Given the description of an element on the screen output the (x, y) to click on. 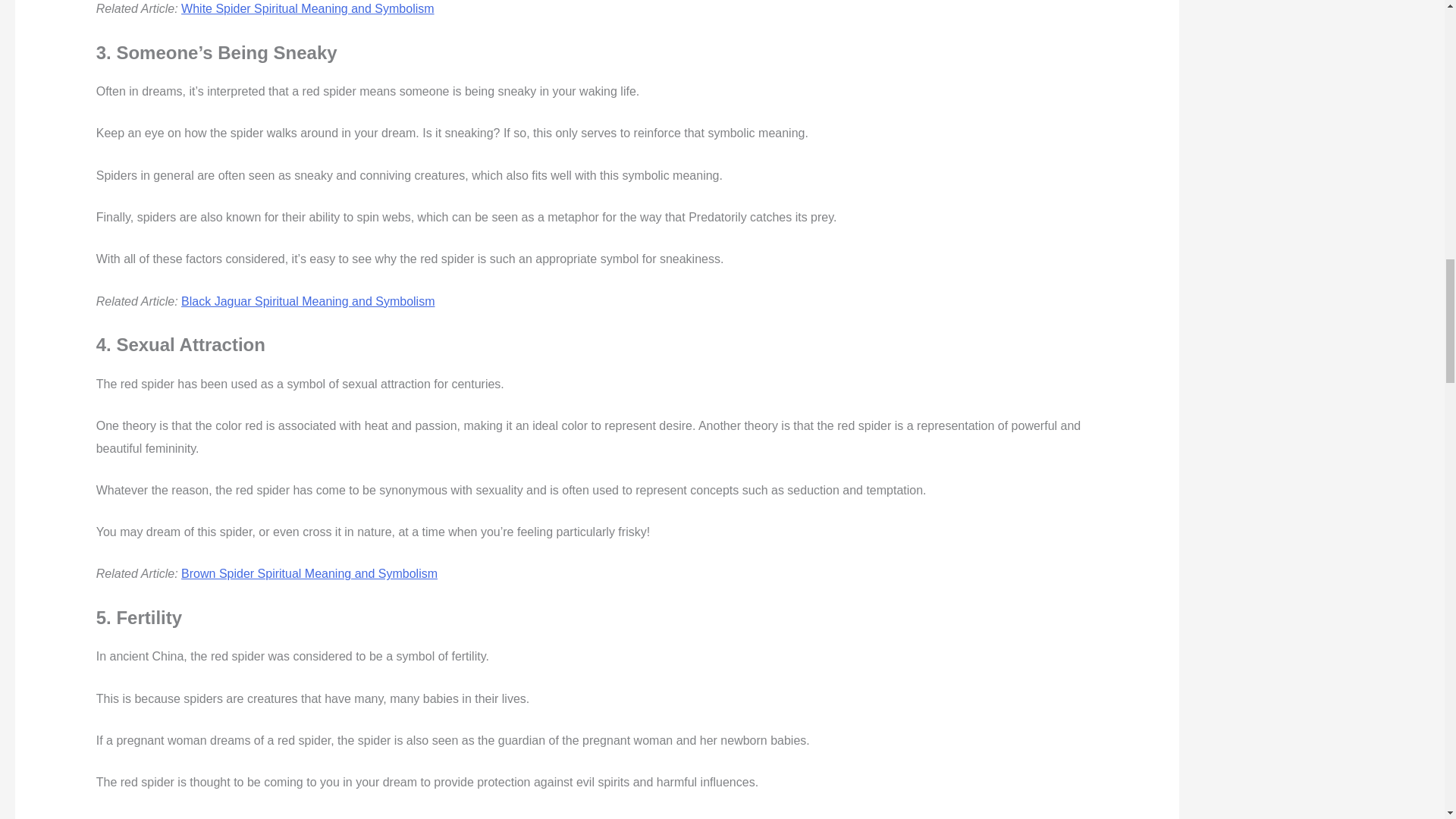
Black Jaguar Spiritual Meaning and Symbolism (306, 300)
Brown Spider Spiritual Meaning and Symbolism (309, 573)
White Spider Spiritual Meaning and Symbolism (306, 8)
